Given the description of an element on the screen output the (x, y) to click on. 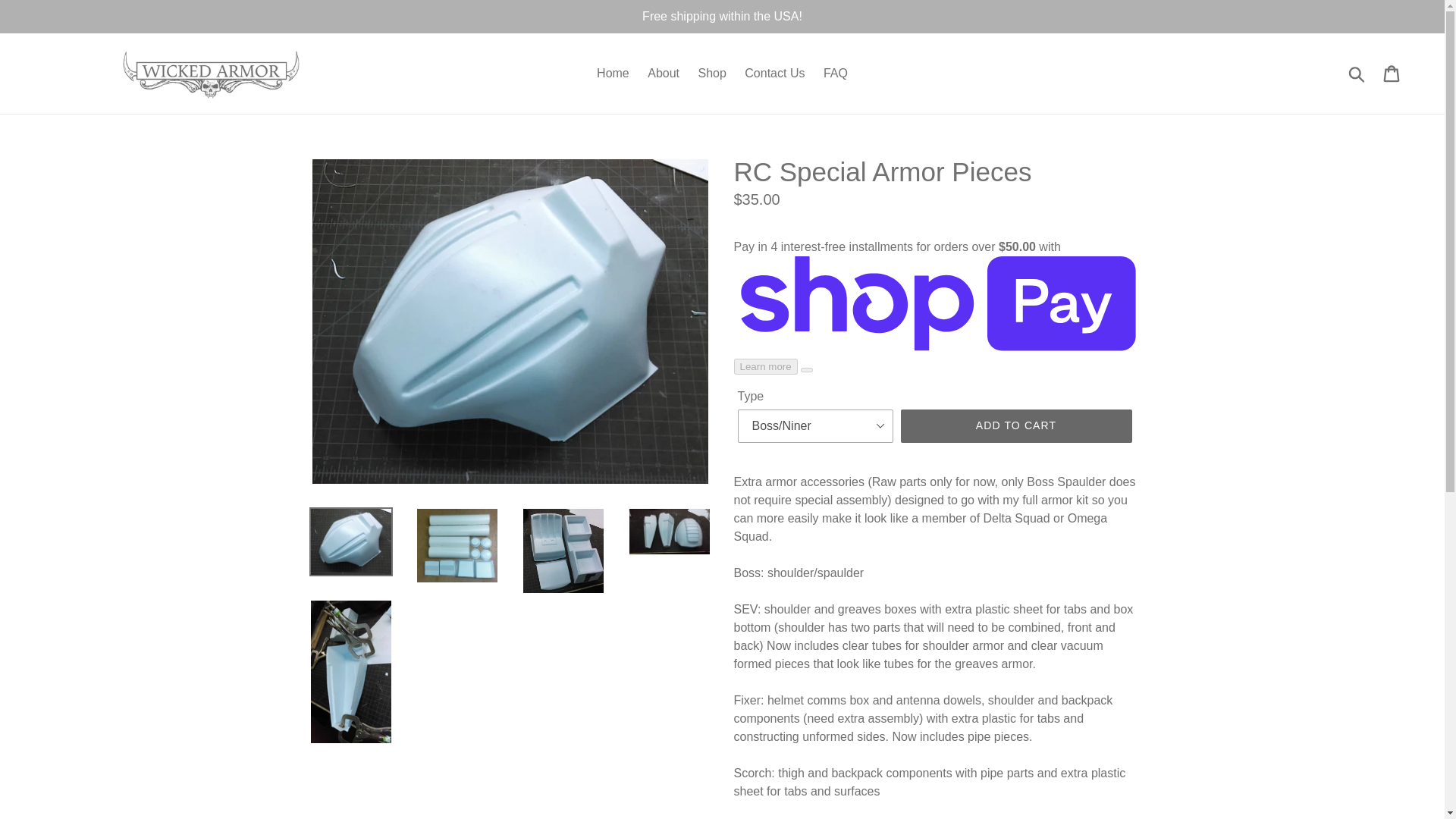
ADD TO CART (1016, 426)
Submit (1357, 73)
About (663, 73)
Shop (711, 73)
FAQ (835, 73)
Home (613, 73)
Cart (1392, 73)
Contact Us (774, 73)
